Given the description of an element on the screen output the (x, y) to click on. 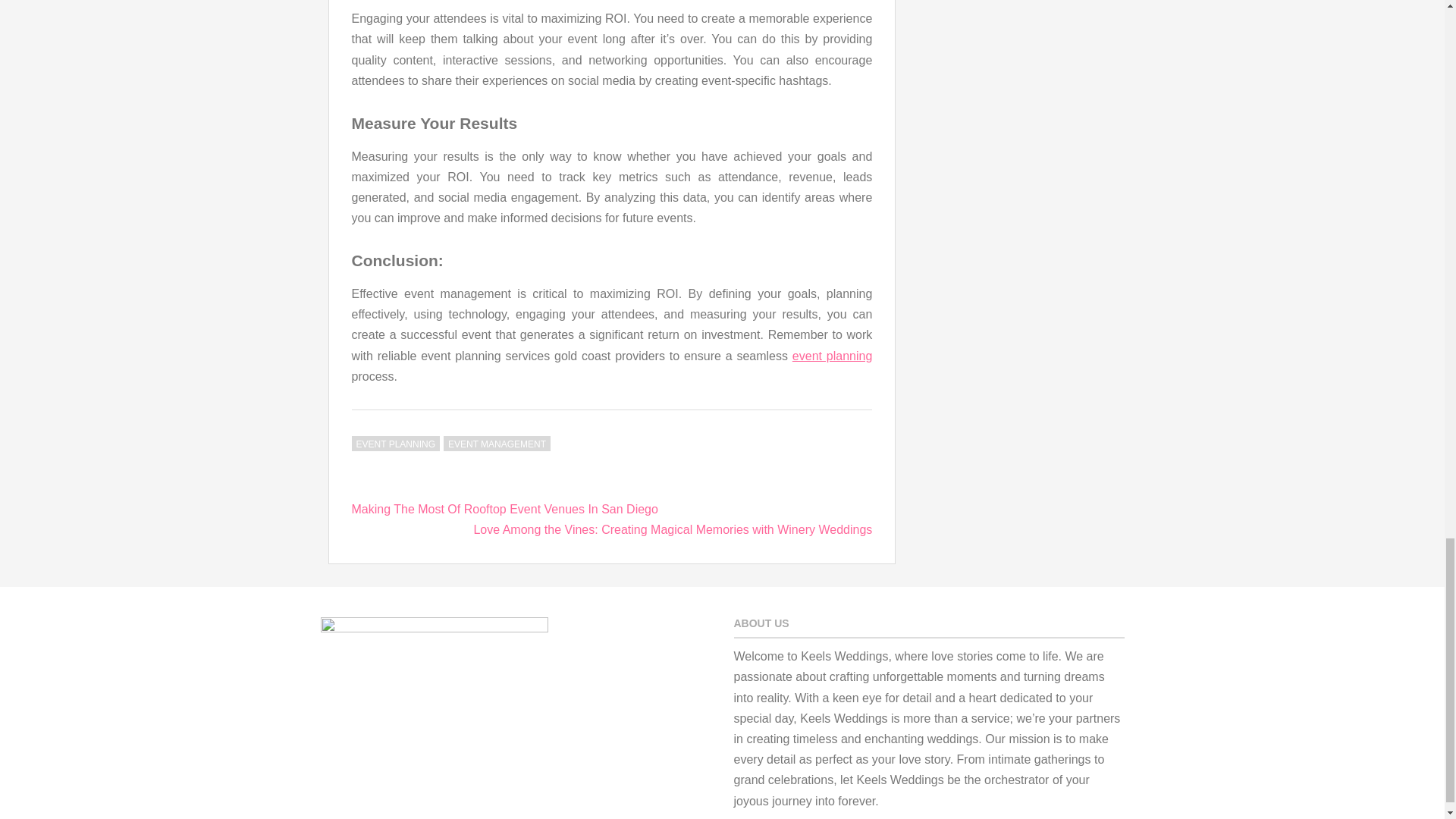
event planning (832, 355)
EVENT MANAGEMENT (497, 443)
Making The Most Of Rooftop Event Venues In San Diego (505, 508)
EVENT PLANNING (395, 443)
